Given the description of an element on the screen output the (x, y) to click on. 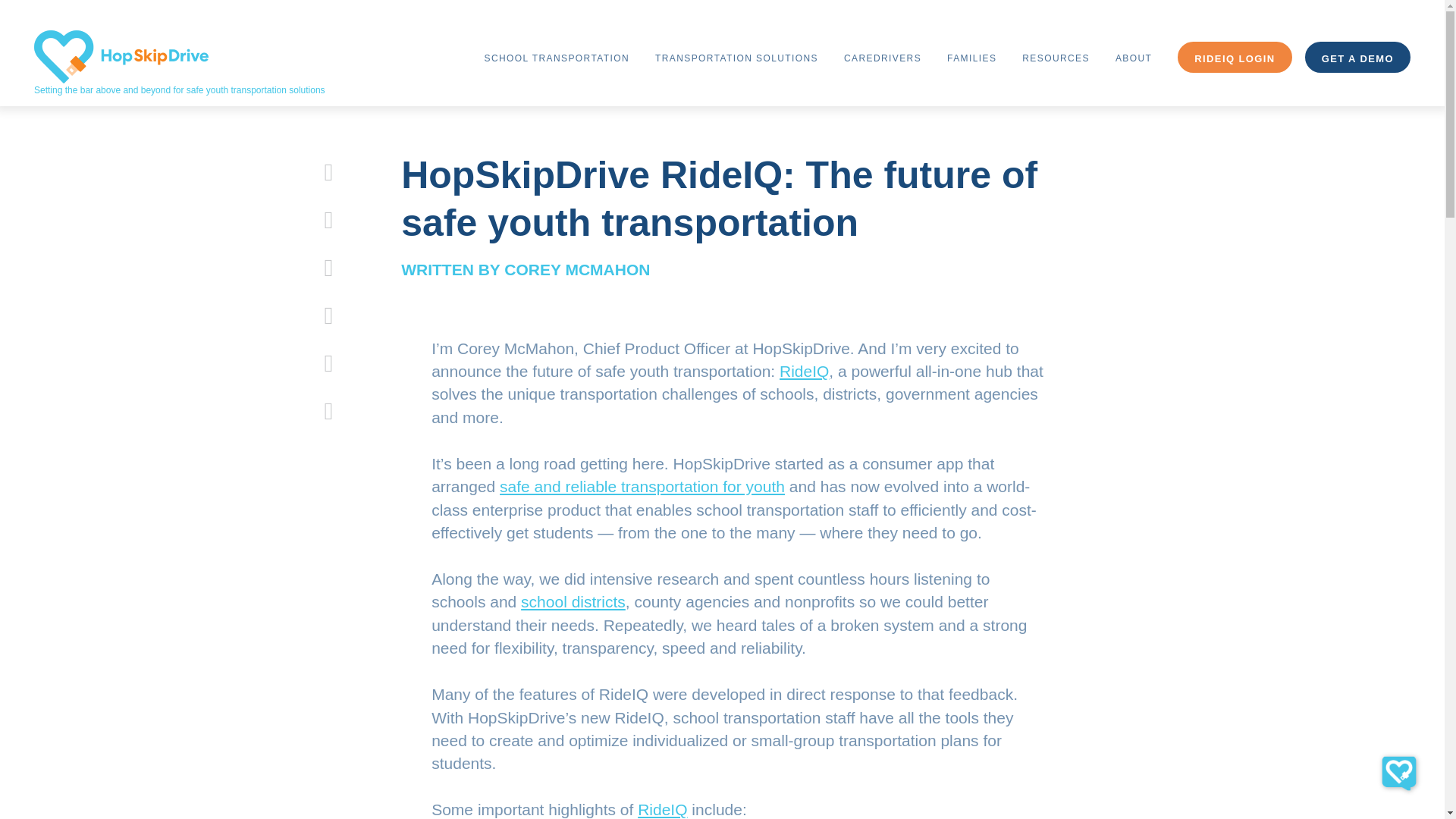
CAREDRIVERS (882, 56)
SCHOOL TRANSPORTATION (556, 56)
TRANSPORTATION SOLUTIONS (736, 56)
Kustomer Widget Iframe (1398, 772)
